Given the description of an element on the screen output the (x, y) to click on. 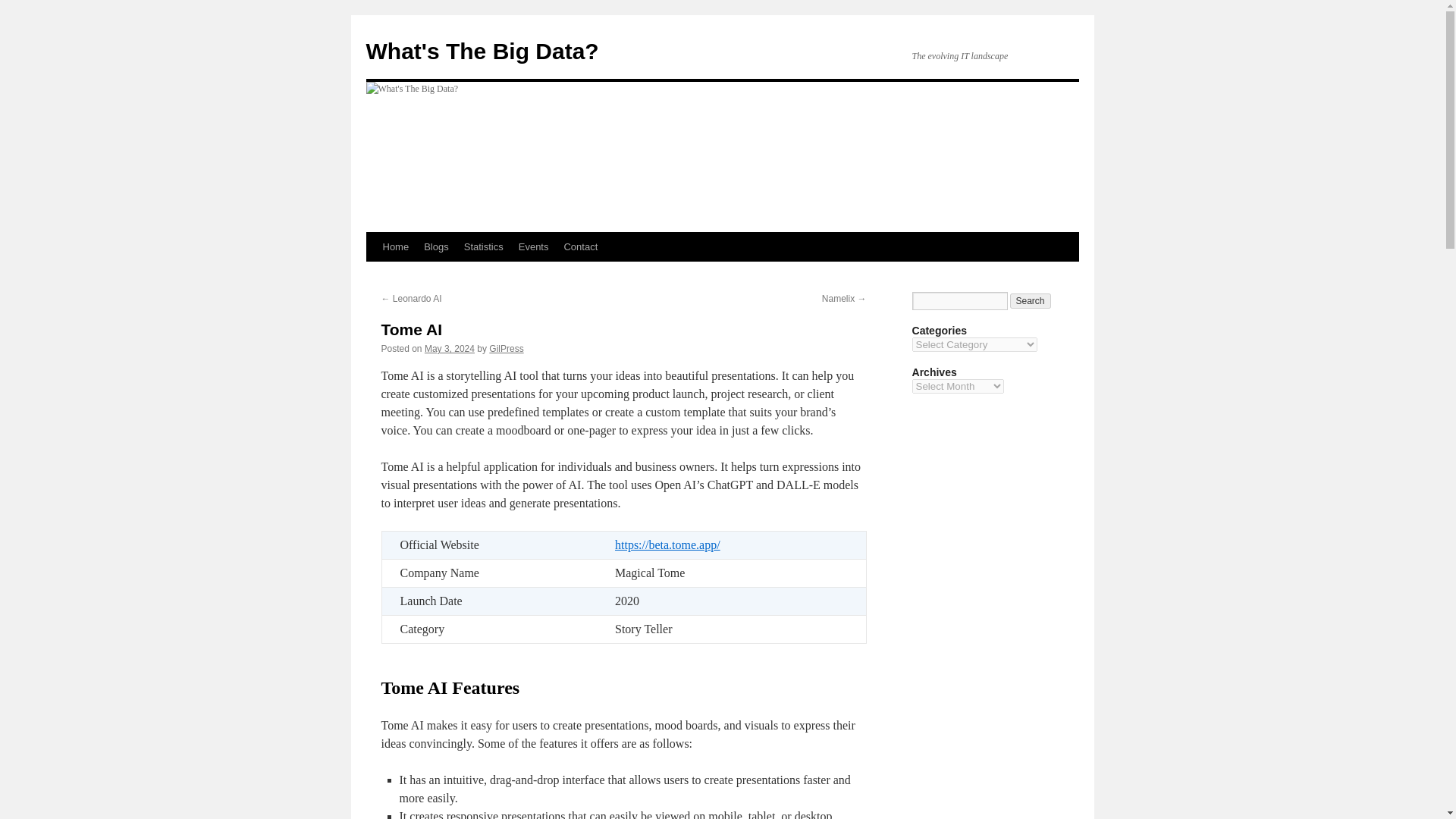
Statistics (484, 246)
Search (1030, 300)
GilPress (505, 348)
View all posts by GilPress (505, 348)
Home (395, 246)
Events (533, 246)
May 3, 2024 (449, 348)
What's The Big Data? (481, 50)
Search (1030, 300)
Contact (580, 246)
